Given the description of an element on the screen output the (x, y) to click on. 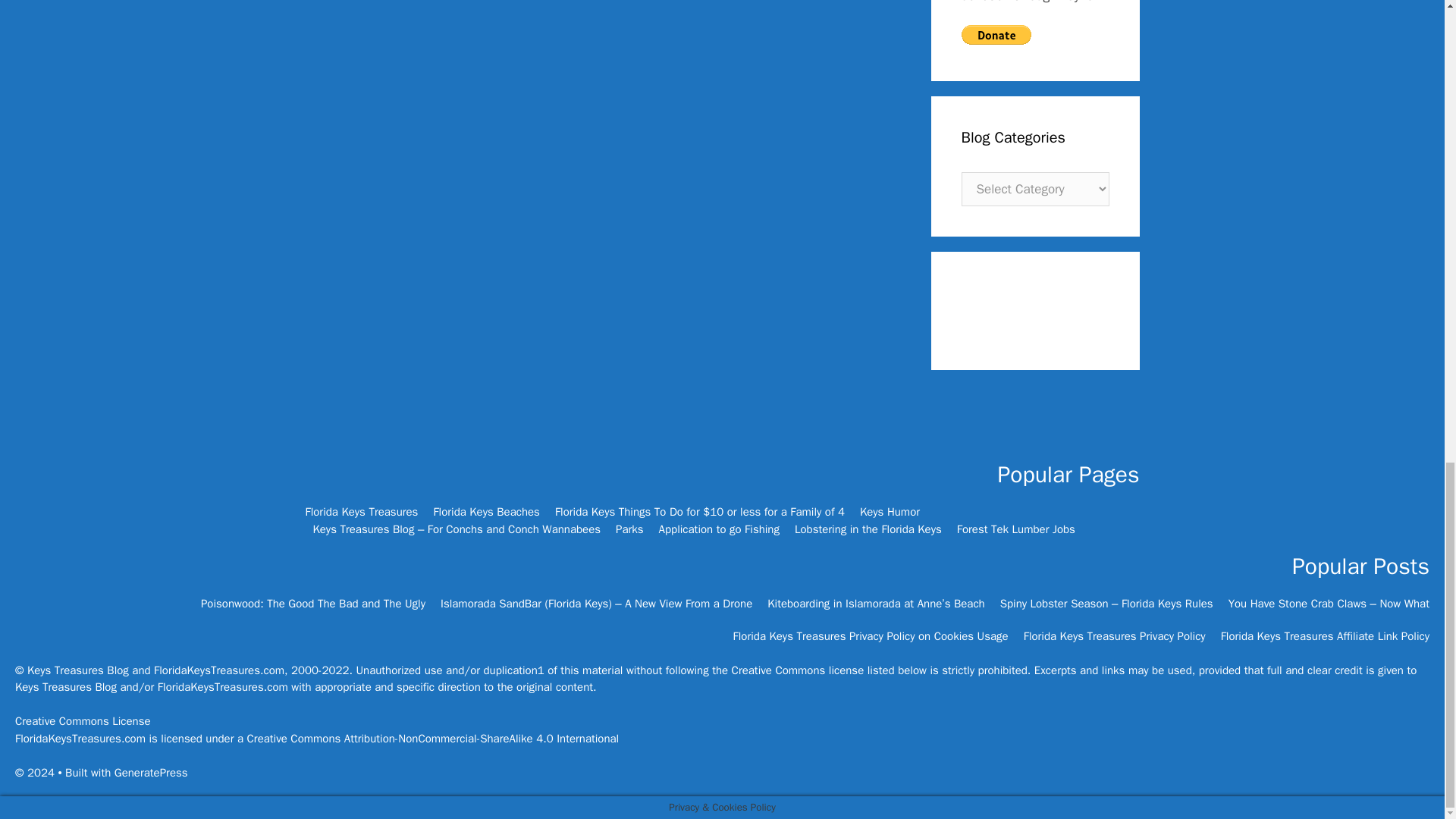
Parks (629, 529)
Lobstering in the Florida Keys (868, 529)
Application to go Fishing (718, 529)
Poisonwood: The Good The Bad and The Ugly (312, 603)
Florida Keys Beaches (486, 511)
Scroll back to top (1406, 469)
Florida Keys Treasures Privacy Policy (1114, 635)
Florida Keys Treasures (360, 511)
Florida Keys Treasures Affiliate Link Policy (1325, 635)
GeneratePress (151, 771)
